Given the description of an element on the screen output the (x, y) to click on. 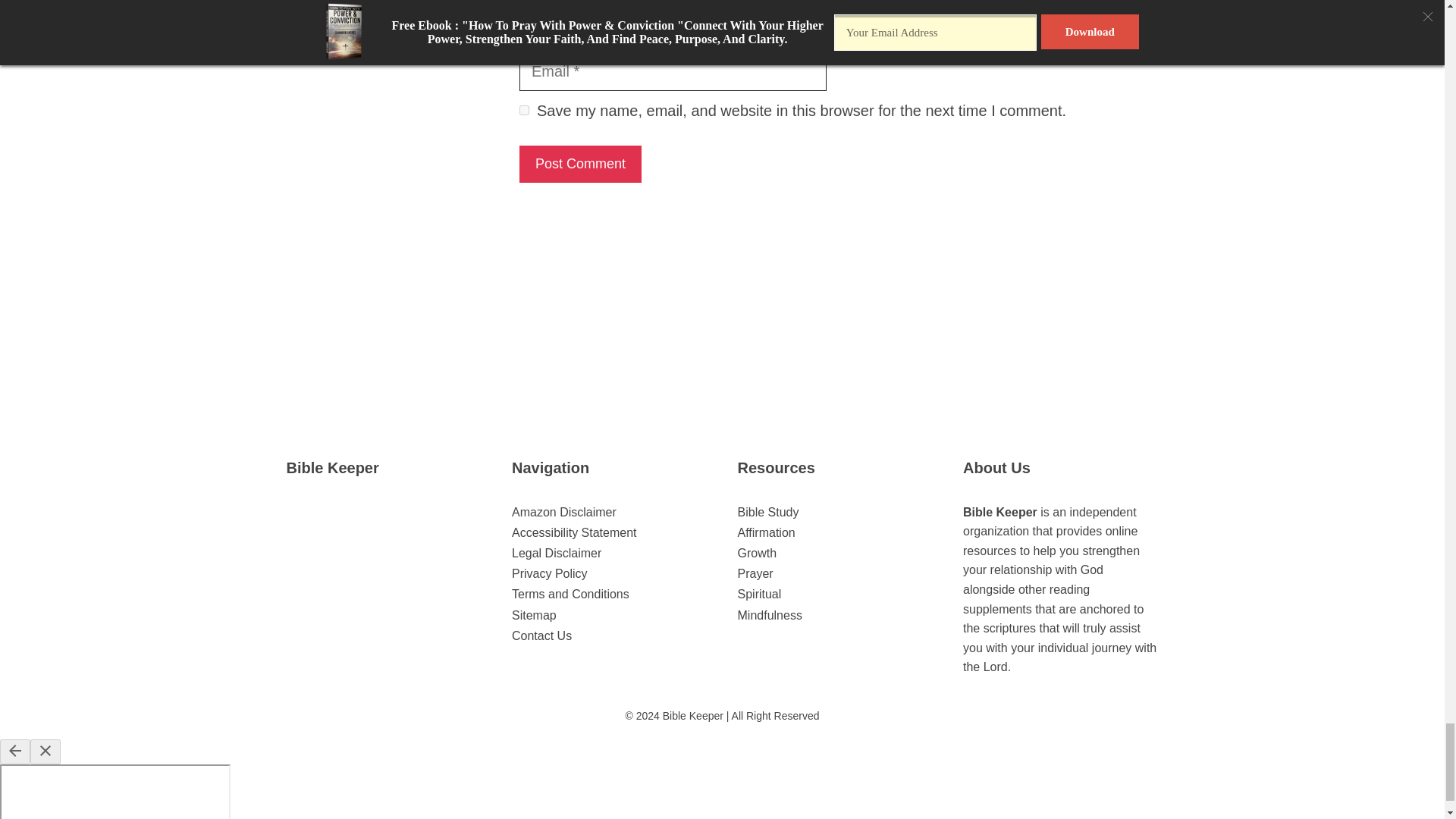
yes (524, 110)
Post Comment (580, 163)
DMCA.com Protection Status (383, 612)
